Given the description of an element on the screen output the (x, y) to click on. 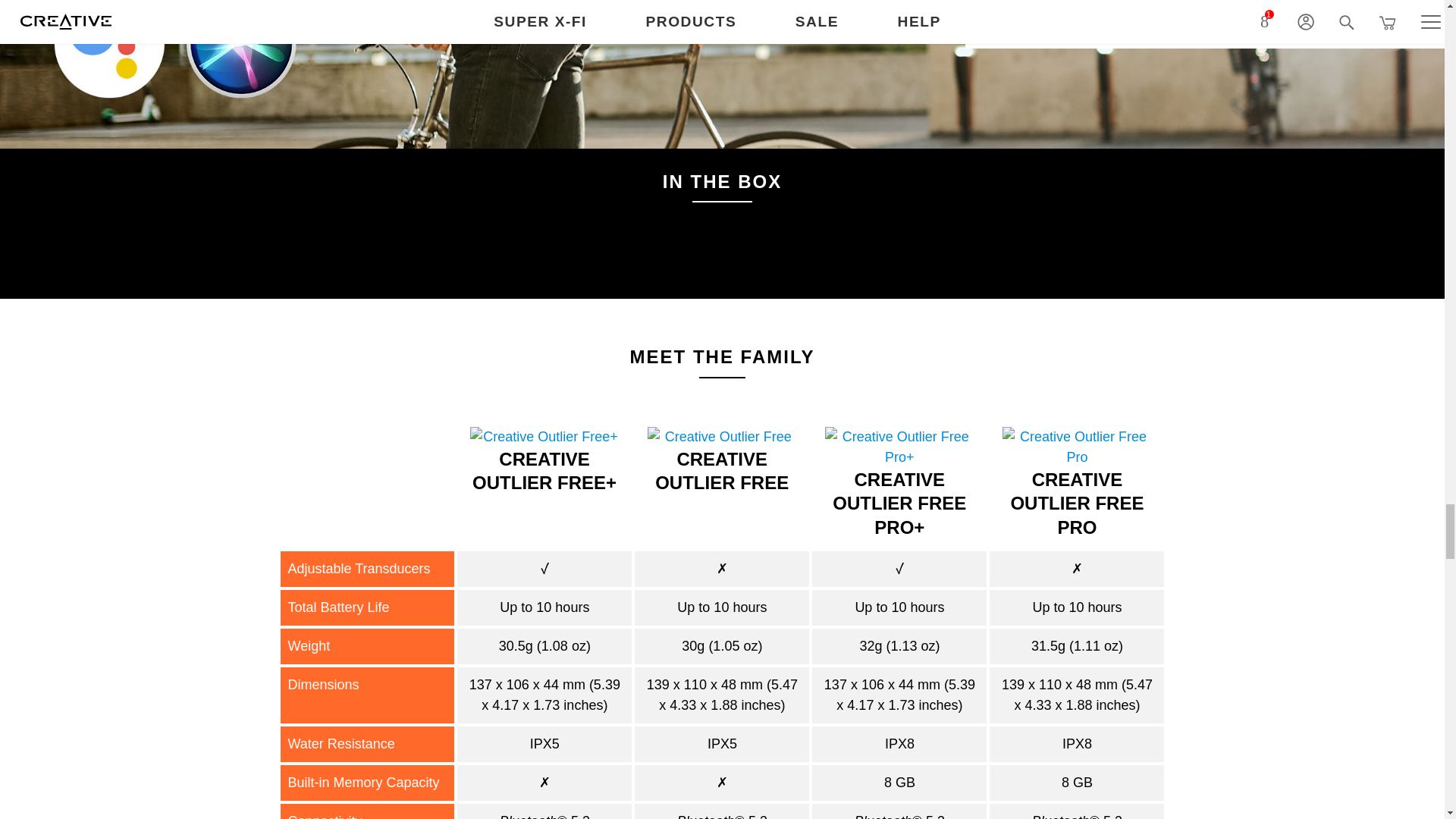
Creative Outlier Free (721, 436)
Creative Outlier Free Pro (1077, 446)
